Given the description of an element on the screen output the (x, y) to click on. 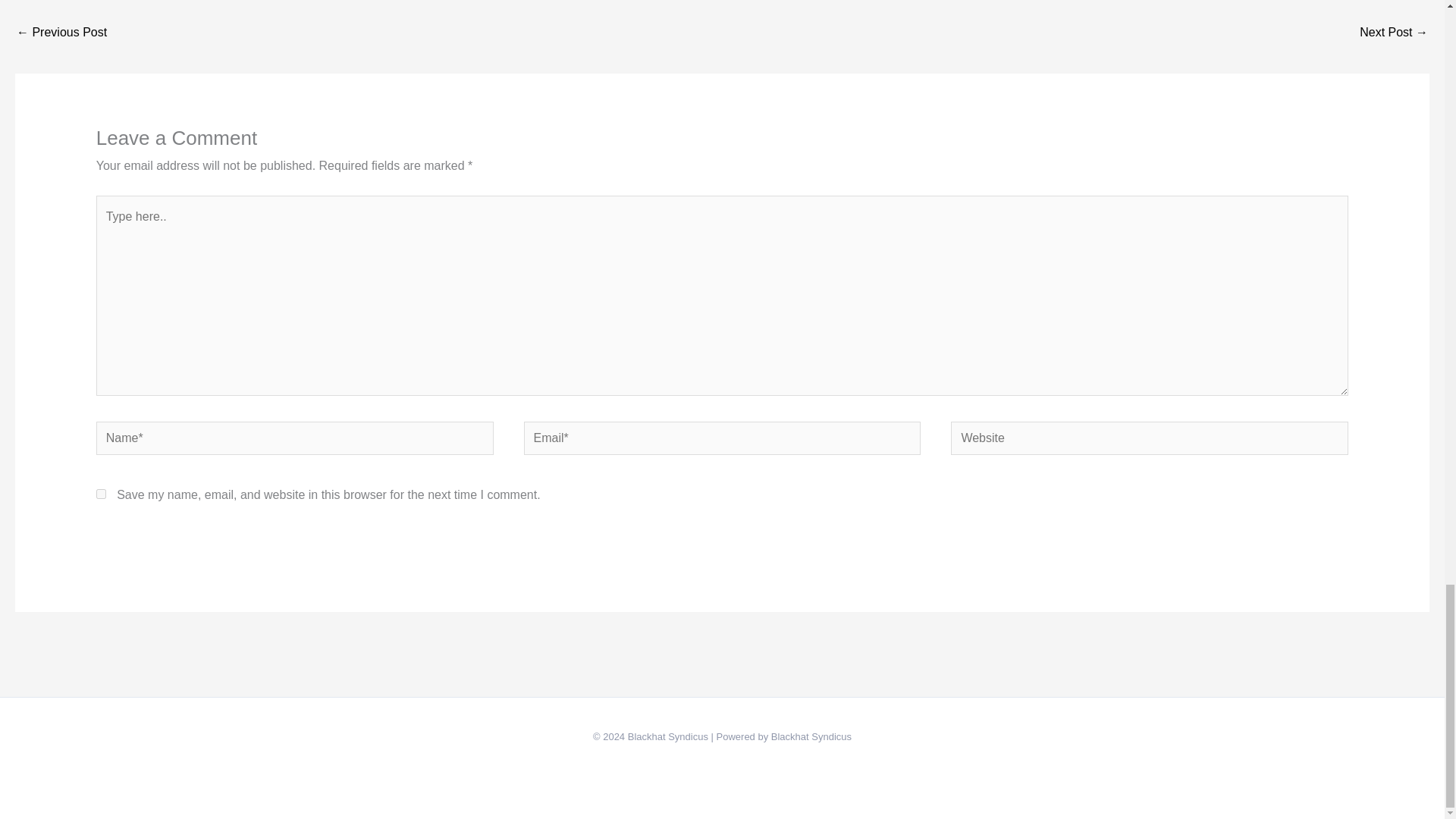
The Technologies for the future (61, 33)
yes (101, 493)
